Given the description of an element on the screen output the (x, y) to click on. 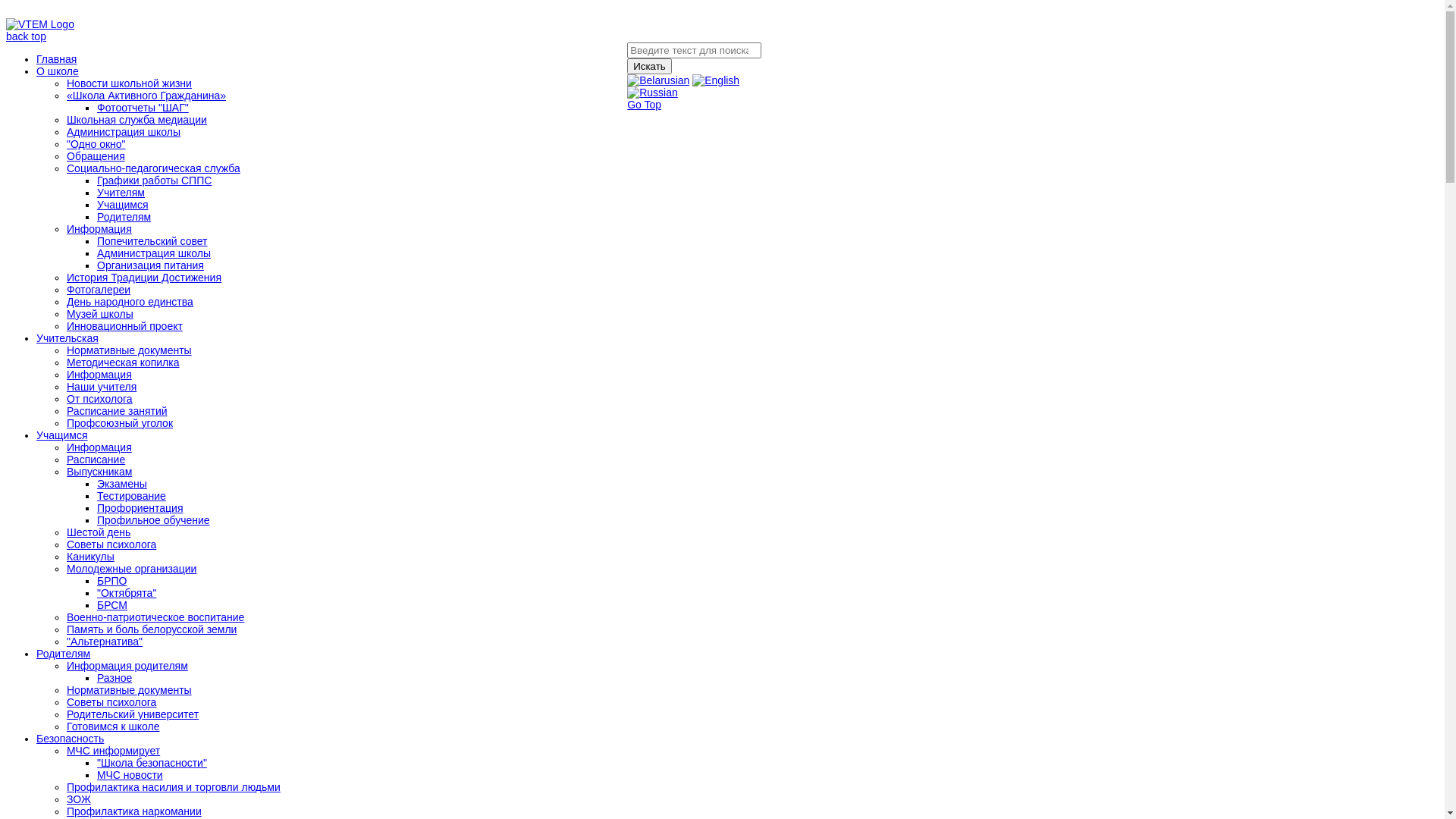
Belarusian Element type: hover (658, 80)
English Element type: hover (715, 80)
back top Element type: text (26, 36)
Russian Element type: hover (652, 92)
Go Top Element type: text (644, 104)
